Given the description of an element on the screen output the (x, y) to click on. 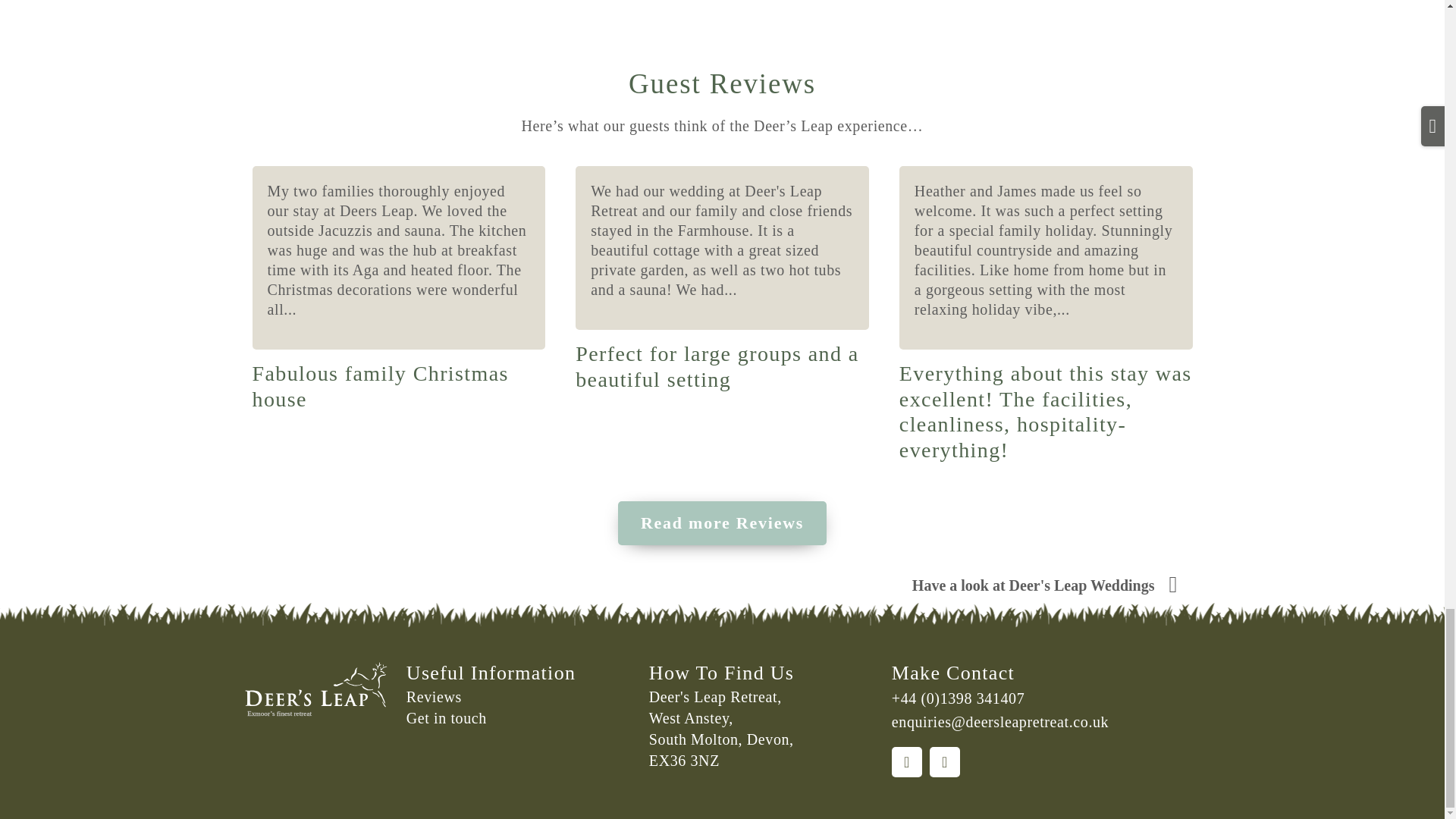
Read more Reviews (722, 523)
Have a look at Deer's Leap Weddings (1044, 587)
Reviews (519, 696)
Get in touch (519, 718)
